Given the description of an element on the screen output the (x, y) to click on. 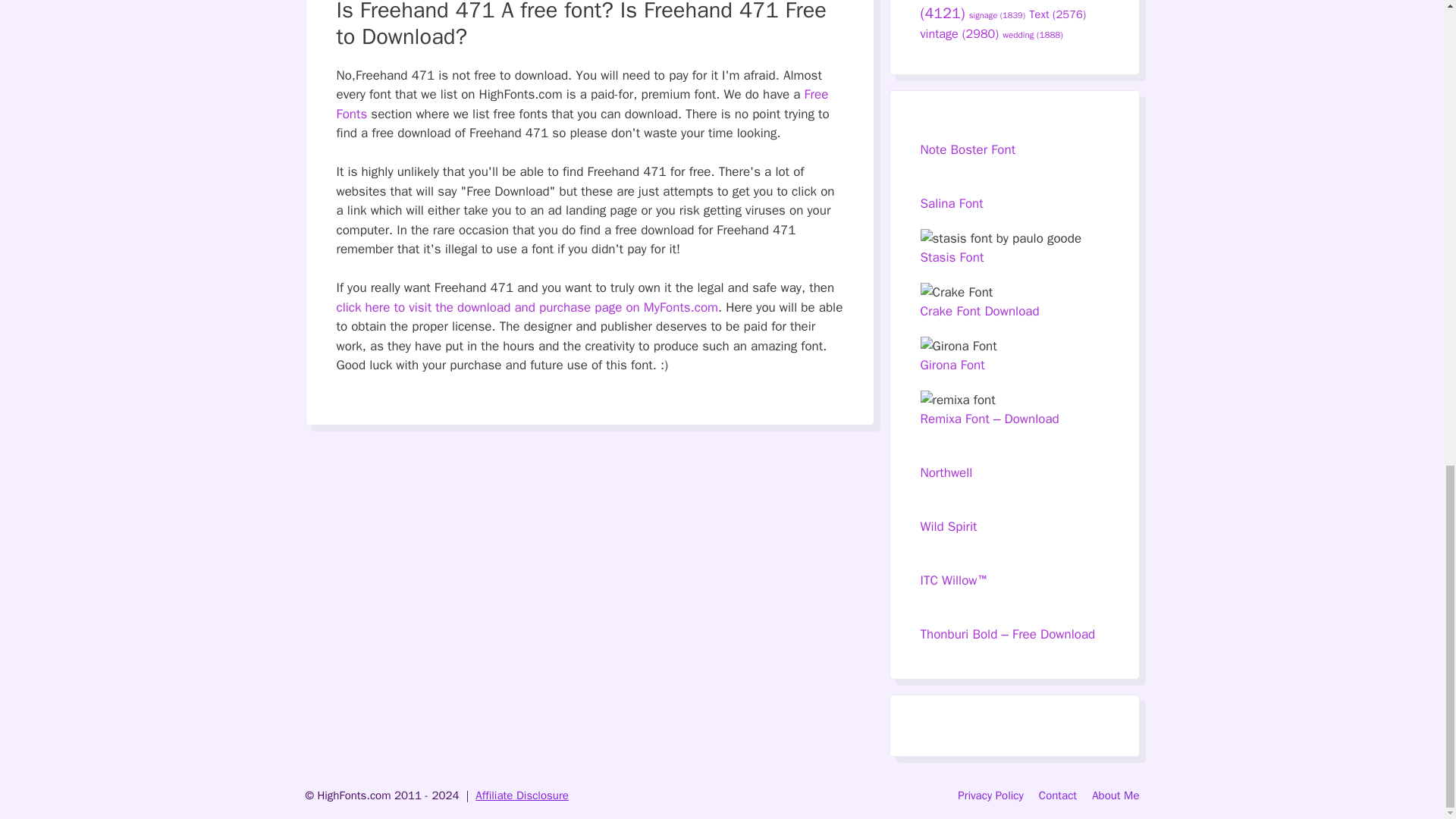
Free Fonts (582, 104)
